Given the description of an element on the screen output the (x, y) to click on. 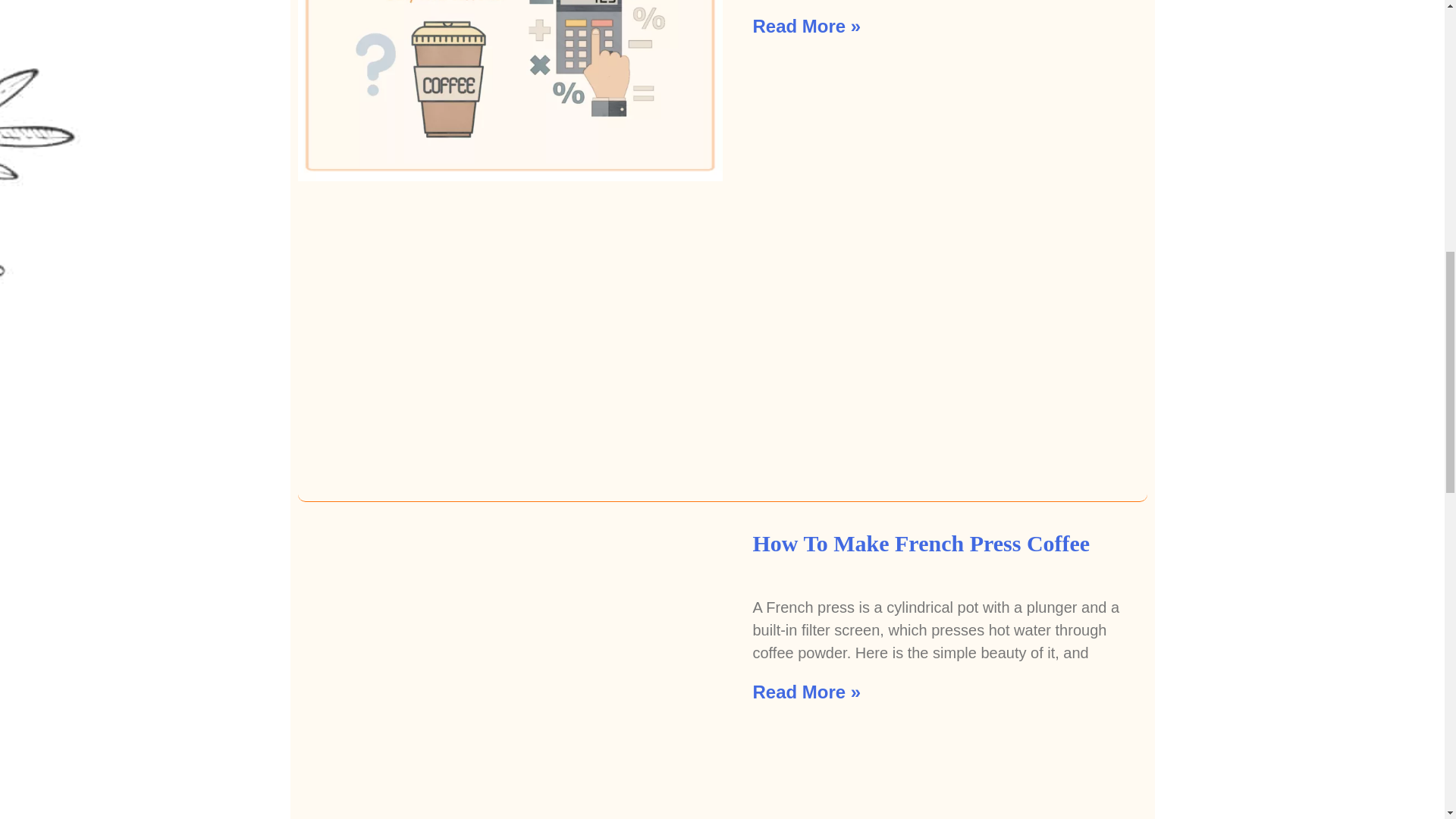
How To Make French Press Coffee (920, 543)
